Given the description of an element on the screen output the (x, y) to click on. 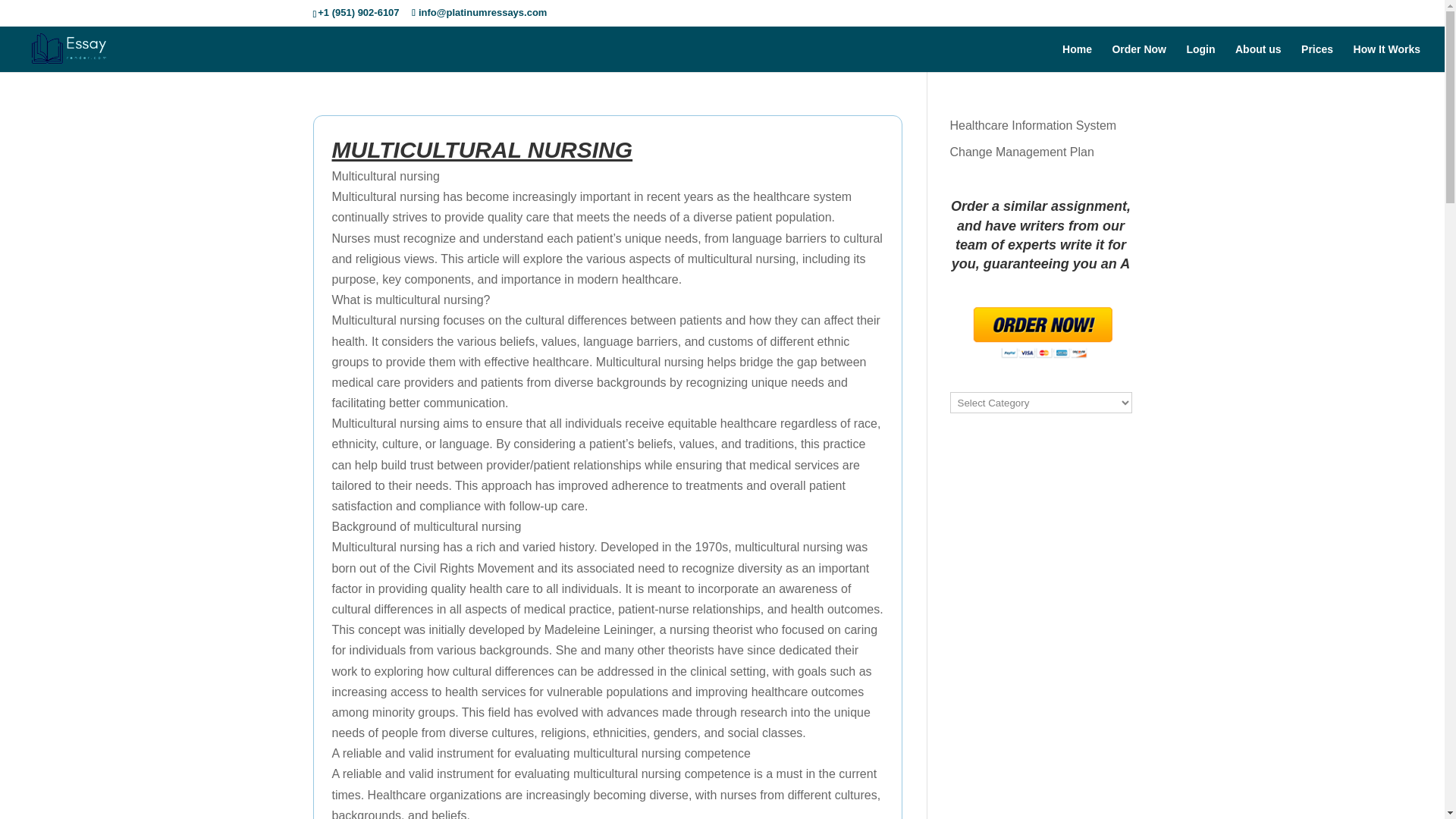
Login (1200, 58)
Healthcare Information System (1032, 124)
Home (1077, 58)
Change Management Plan (1021, 151)
About us (1257, 58)
Order Now (1139, 58)
How It Works (1387, 58)
Prices (1317, 58)
